Given the description of an element on the screen output the (x, y) to click on. 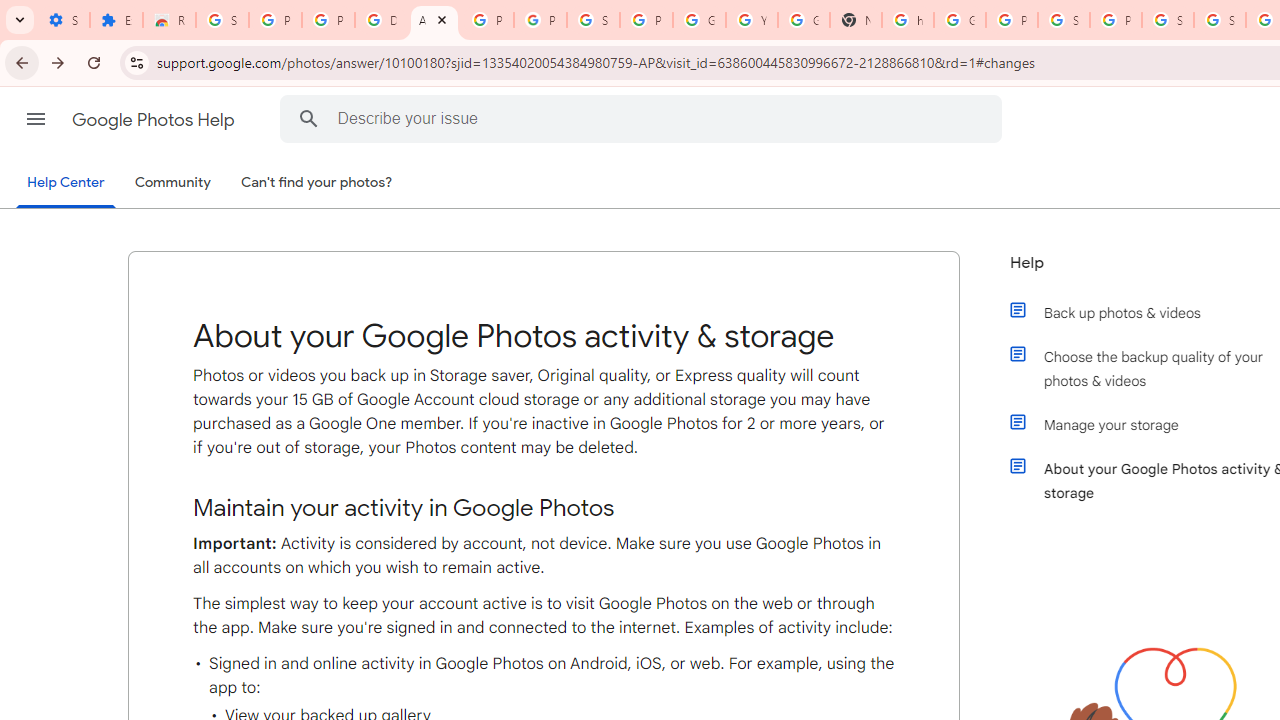
Settings - On startup (63, 20)
Extensions (116, 20)
YouTube (751, 20)
Google Account (699, 20)
